Given the description of an element on the screen output the (x, y) to click on. 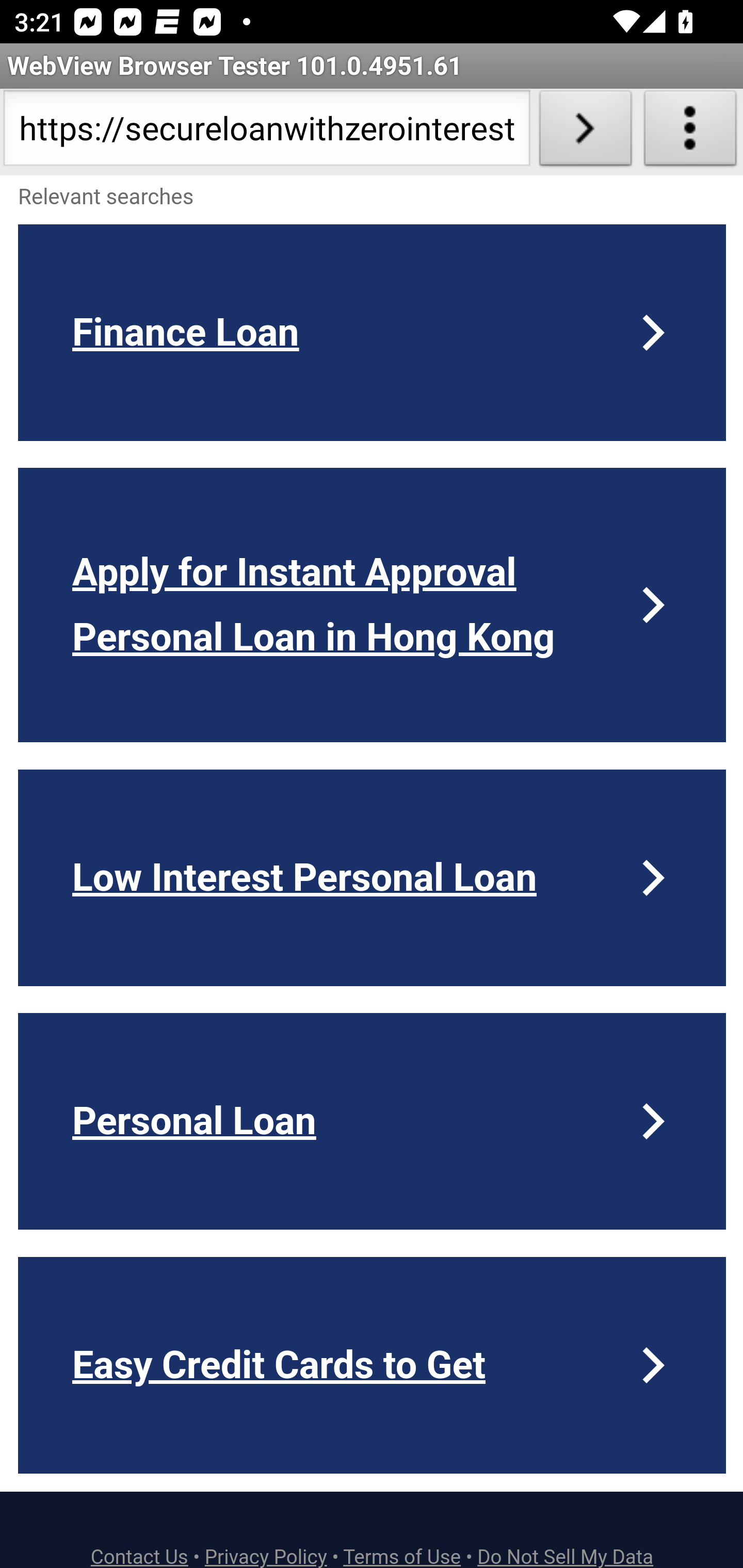
Load URL (585, 132)
About WebView (690, 132)
Finance Loan (372, 332)
Low Interest Personal Loan (372, 876)
Personal Loan (372, 1120)
Easy Credit Cards to Get (372, 1364)
Contact Us (139, 1556)
Privacy Policy (265, 1556)
Terms of Use (402, 1556)
Do Not Sell My Data (566, 1556)
